Given the description of an element on the screen output the (x, y) to click on. 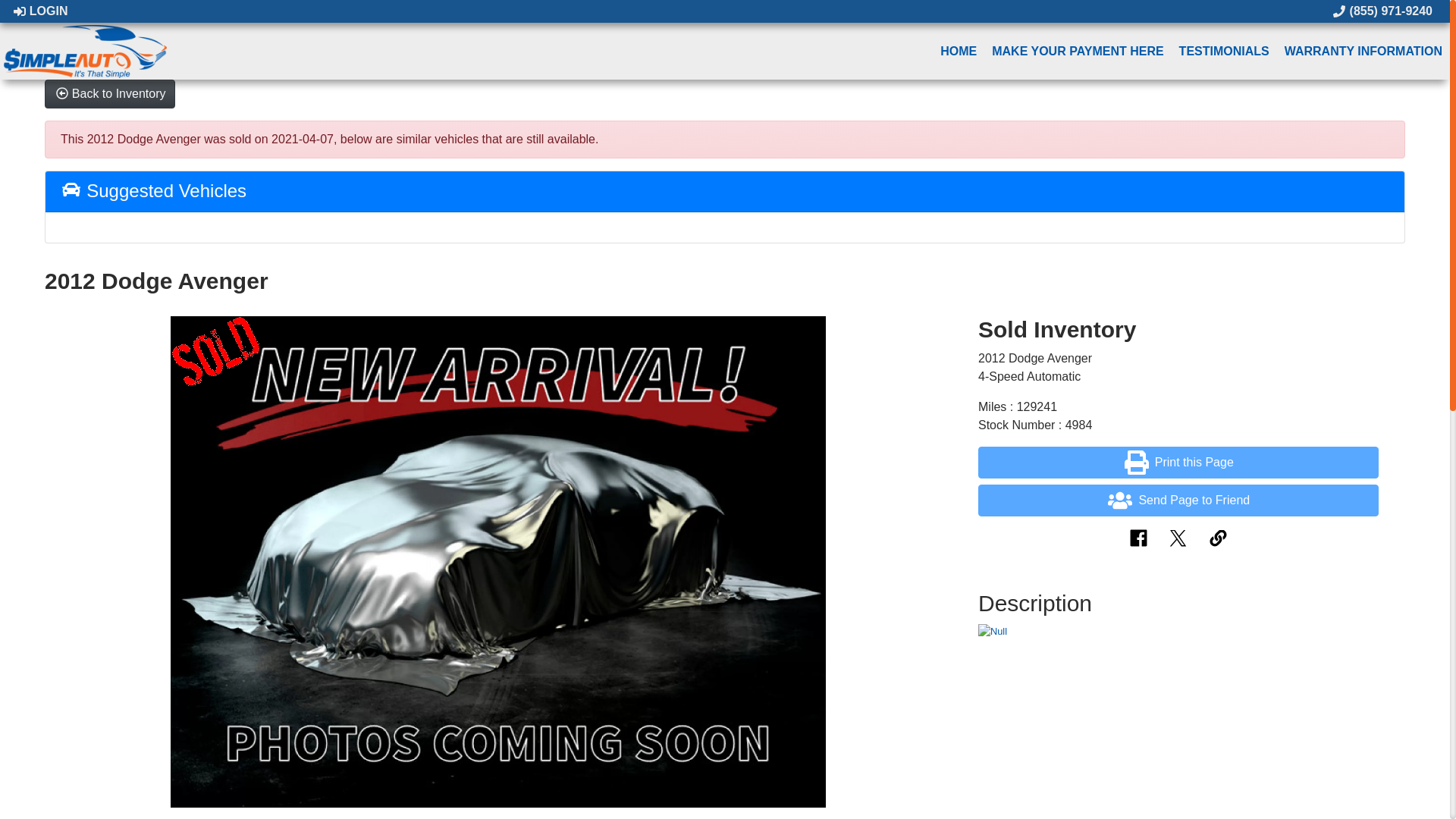
HOME (958, 50)
MAKE YOUR PAYMENT HERE (1077, 50)
Print this Page (1178, 462)
TESTIMONIALS (1224, 50)
Back to Inventory (109, 93)
LOGIN (39, 10)
Send Page to Friend (1178, 500)
